Given the description of an element on the screen output the (x, y) to click on. 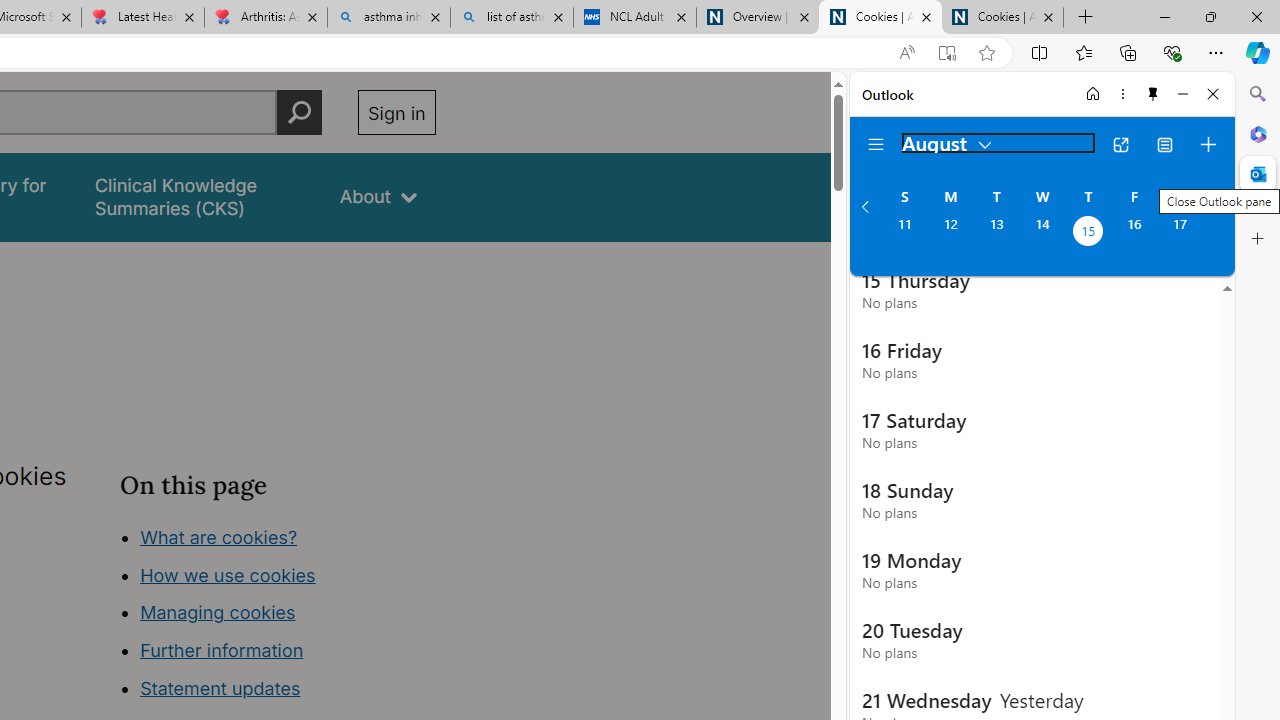
About (378, 196)
NCL Adult Asthma Inhaler Choice Guideline (634, 17)
asthma inhaler - Search (388, 17)
How we use cookies (227, 574)
About (378, 196)
August (948, 141)
Wednesday, August 14, 2024.  (1042, 233)
Class: in-page-nav__list (277, 615)
